Given the description of an element on the screen output the (x, y) to click on. 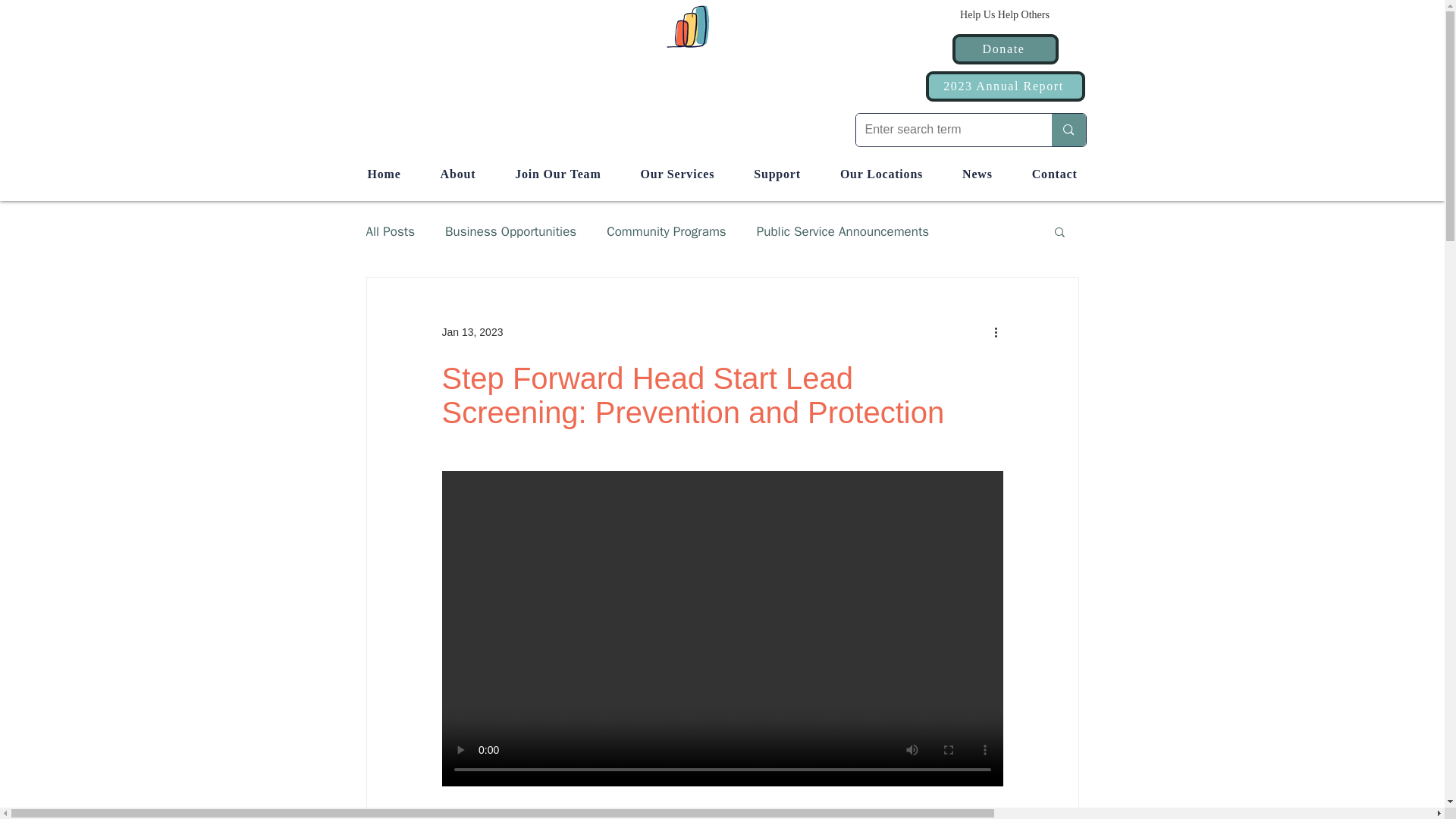
Home (383, 174)
Donate (1005, 49)
Business Opportunities (510, 231)
All Posts (389, 231)
2023 Annual Report (1004, 86)
About (458, 174)
Join Our Team (557, 174)
News (976, 174)
Contact (1054, 174)
Community Programs (666, 231)
Jan 13, 2023 (471, 331)
step forward today logo (721, 26)
Public Service Announcements (842, 231)
